Given the description of an element on the screen output the (x, y) to click on. 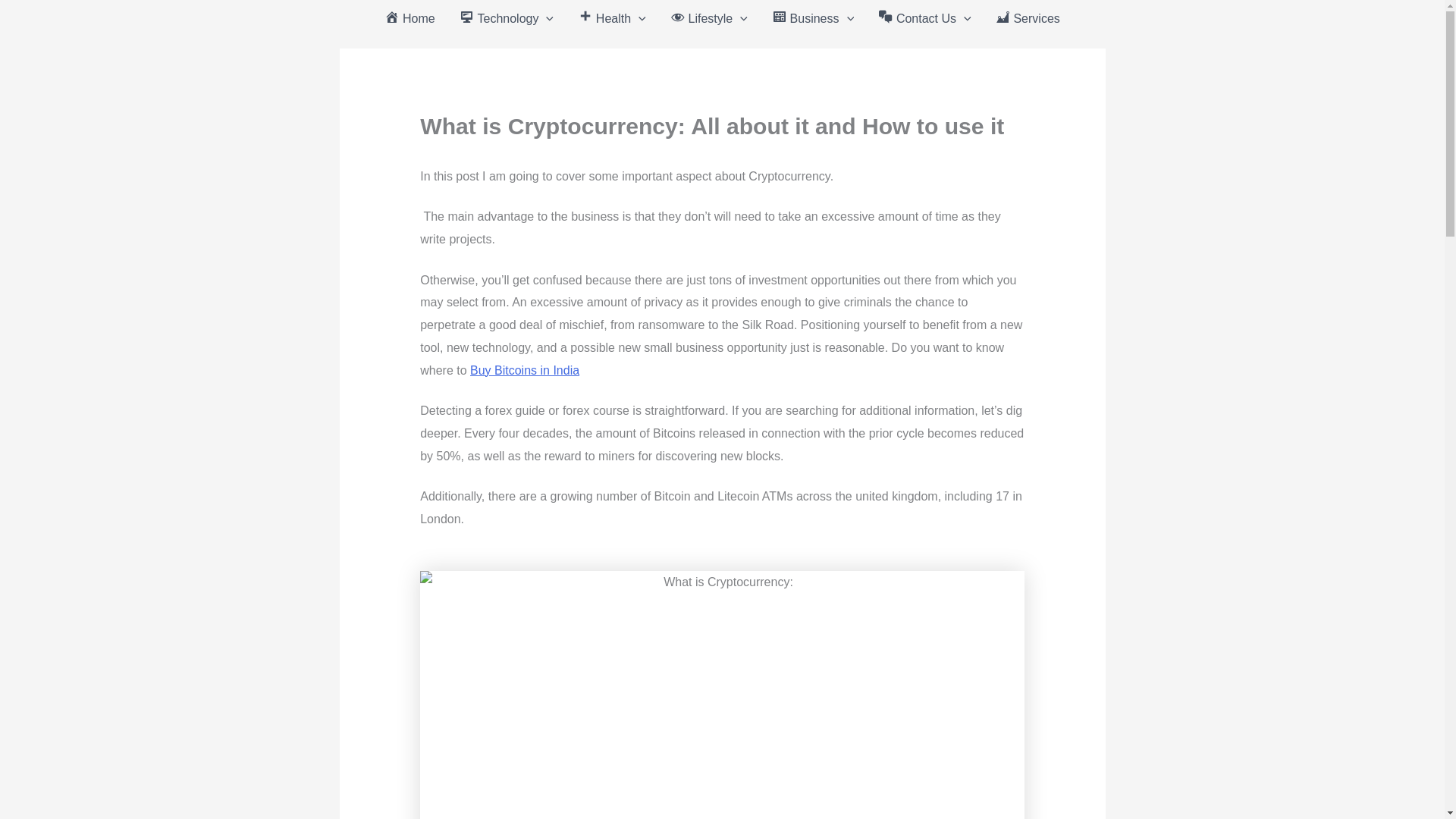
Lifestyle (709, 18)
Business (813, 18)
Contact Us (925, 18)
Health (612, 18)
Technology (506, 18)
Home (409, 18)
Services (1027, 18)
